Given the description of an element on the screen output the (x, y) to click on. 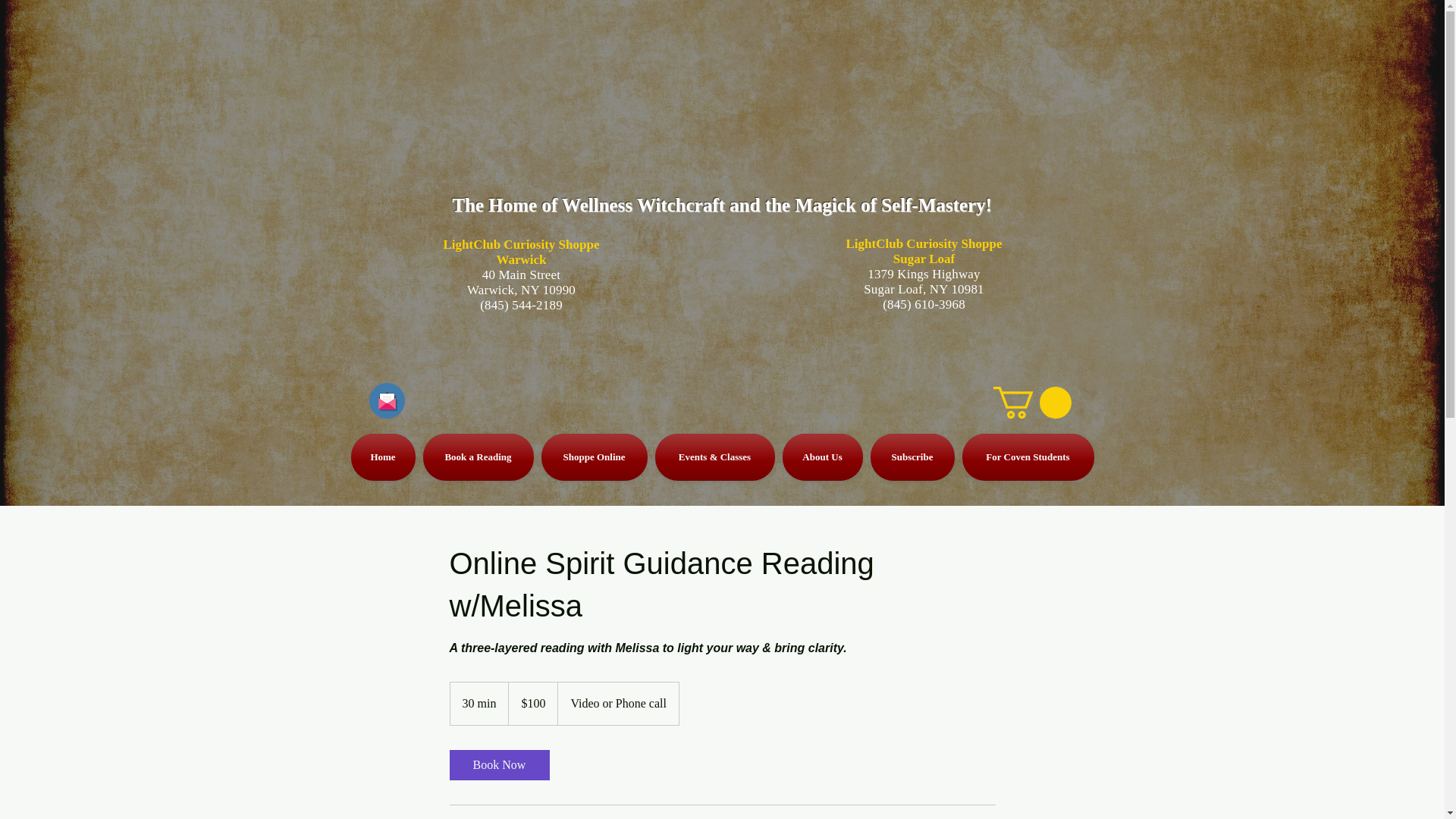
Home (384, 457)
About Us (821, 457)
Book a Reading (478, 457)
Subscribe (912, 457)
Shoppe Online (593, 457)
For Coven Students (1026, 457)
eMail LightClub (386, 400)
Book Now (498, 765)
